Given the description of an element on the screen output the (x, y) to click on. 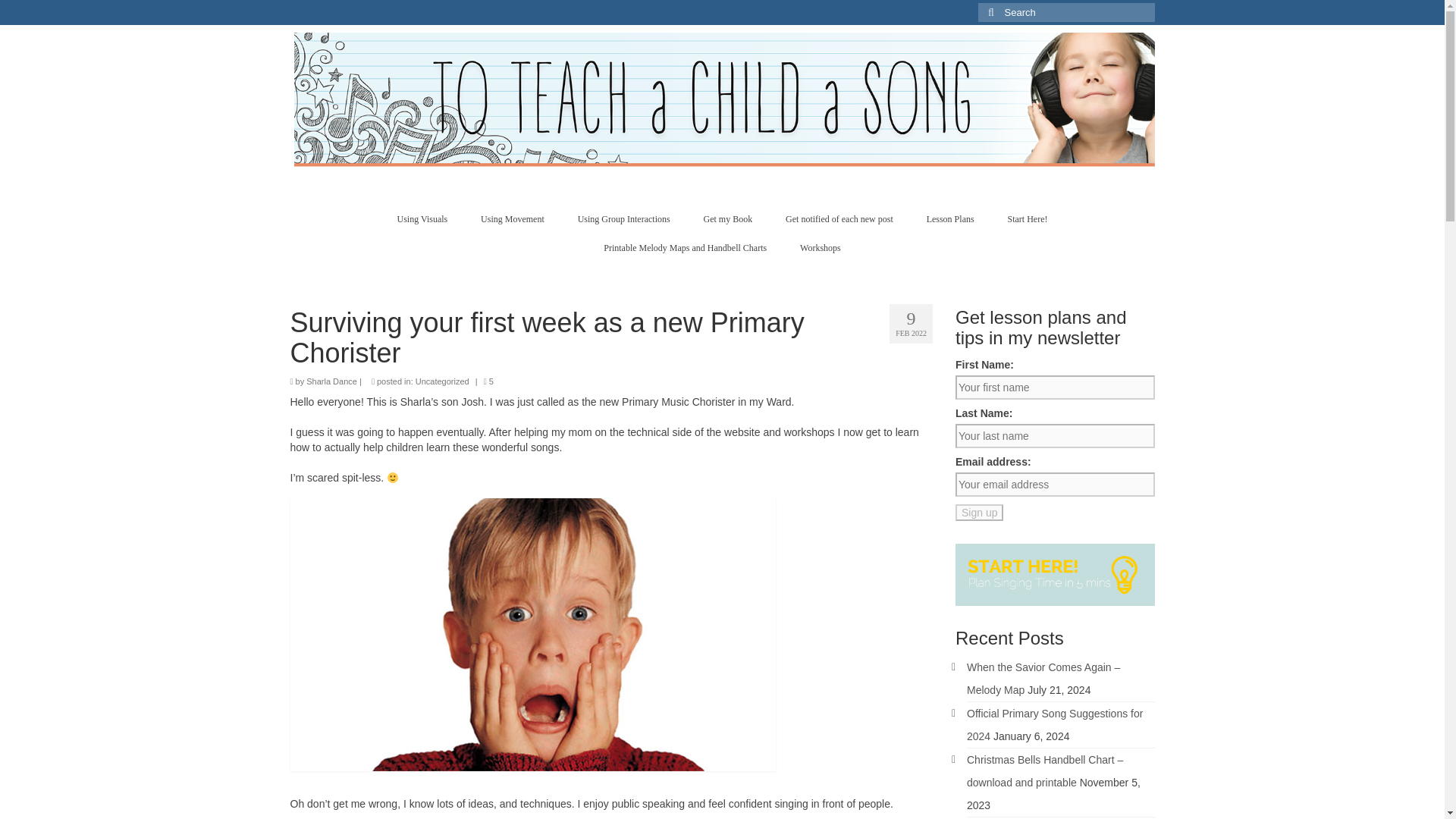
Lesson Plans (950, 218)
Sharla Dance (330, 380)
Official Primary Song Suggestions for 2024 (1054, 724)
Sign up (979, 512)
Uncategorized (441, 380)
Get my Book (728, 218)
Using Visuals (422, 218)
Using Group Interactions (623, 218)
Printable Melody Maps and Handbell Charts (684, 247)
Sign up (979, 512)
Using Movement (512, 218)
Get notified of each new post (839, 218)
Start Here! (1027, 218)
Workshops (820, 247)
